Given the description of an element on the screen output the (x, y) to click on. 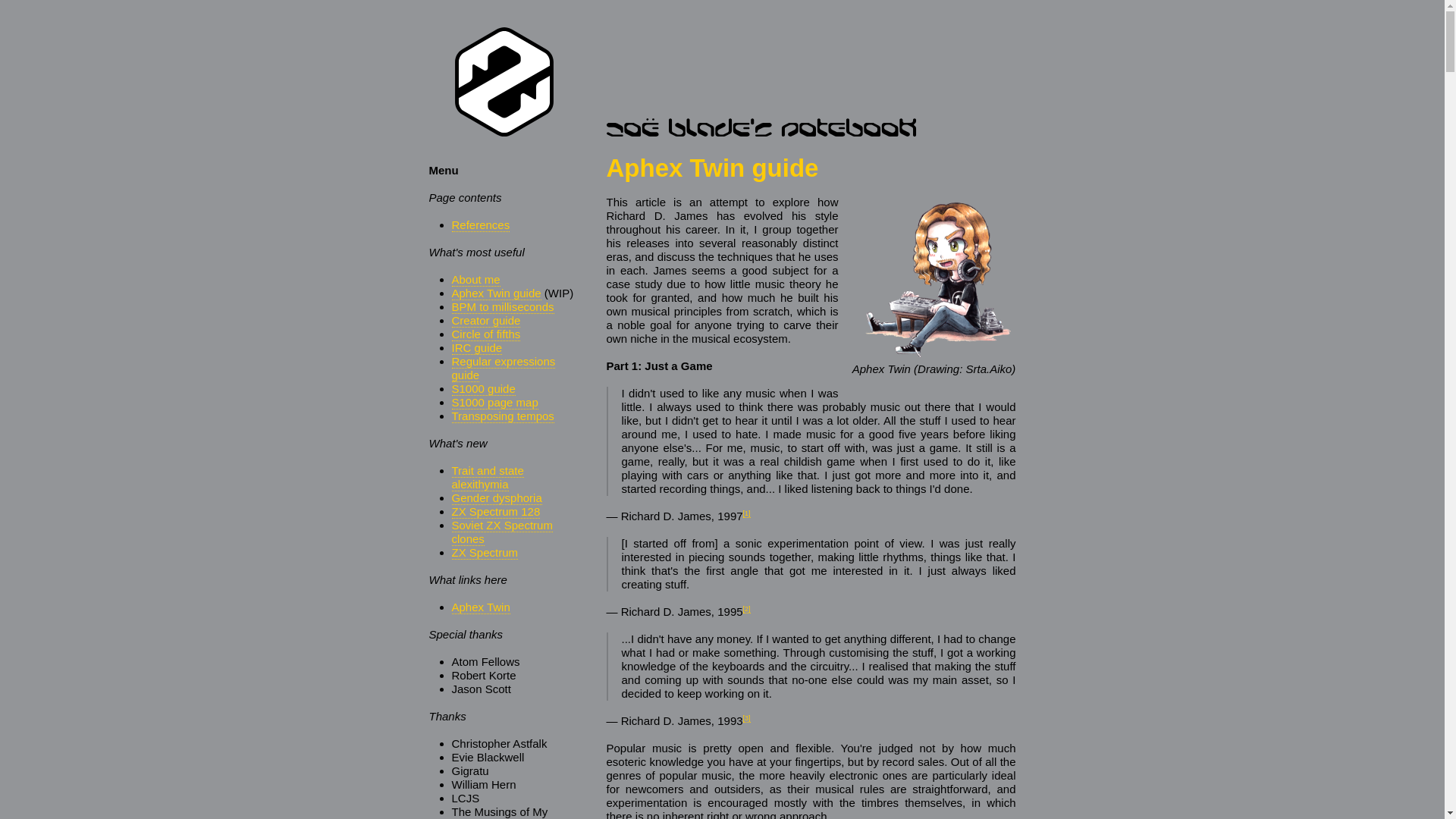
BPM to milliseconds (502, 306)
S1000 page map (494, 402)
Trait and state alexithymia (487, 477)
ZX Spectrum (484, 552)
Creator guide (486, 320)
The Aphex Effect (746, 718)
S1000 guide (483, 388)
Aphex Twin guide (496, 293)
S1000 guide (483, 388)
References (481, 224)
Transposing tempos (502, 416)
S1000 page map (494, 402)
Aphex Twin (481, 607)
Soviet ZX Spectrum clones (502, 532)
Trait and state alexithymia (487, 477)
